Given the description of an element on the screen output the (x, y) to click on. 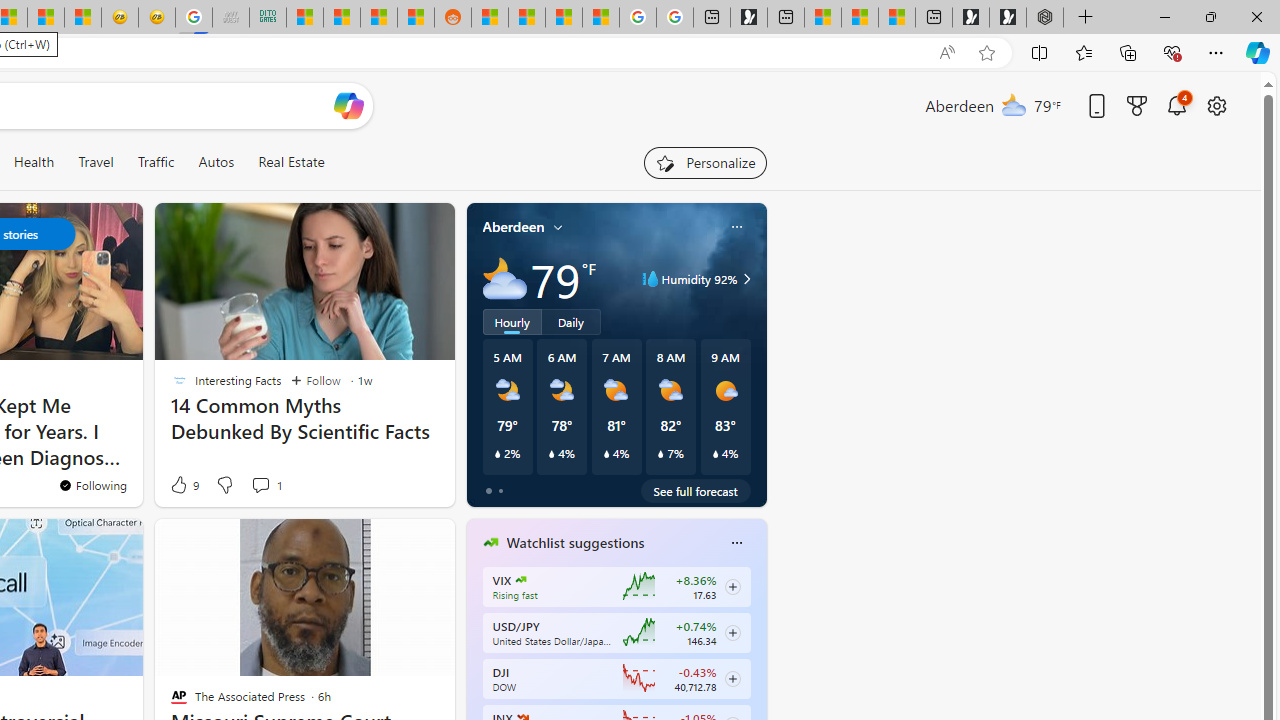
You're following Newsweek (92, 485)
Health (34, 161)
previous (476, 670)
Traffic (155, 162)
See full forecast (695, 490)
You're following FOX News (390, 490)
CBOE Market Volatility Index (520, 579)
Personalize your feed" (704, 162)
